Given the description of an element on the screen output the (x, y) to click on. 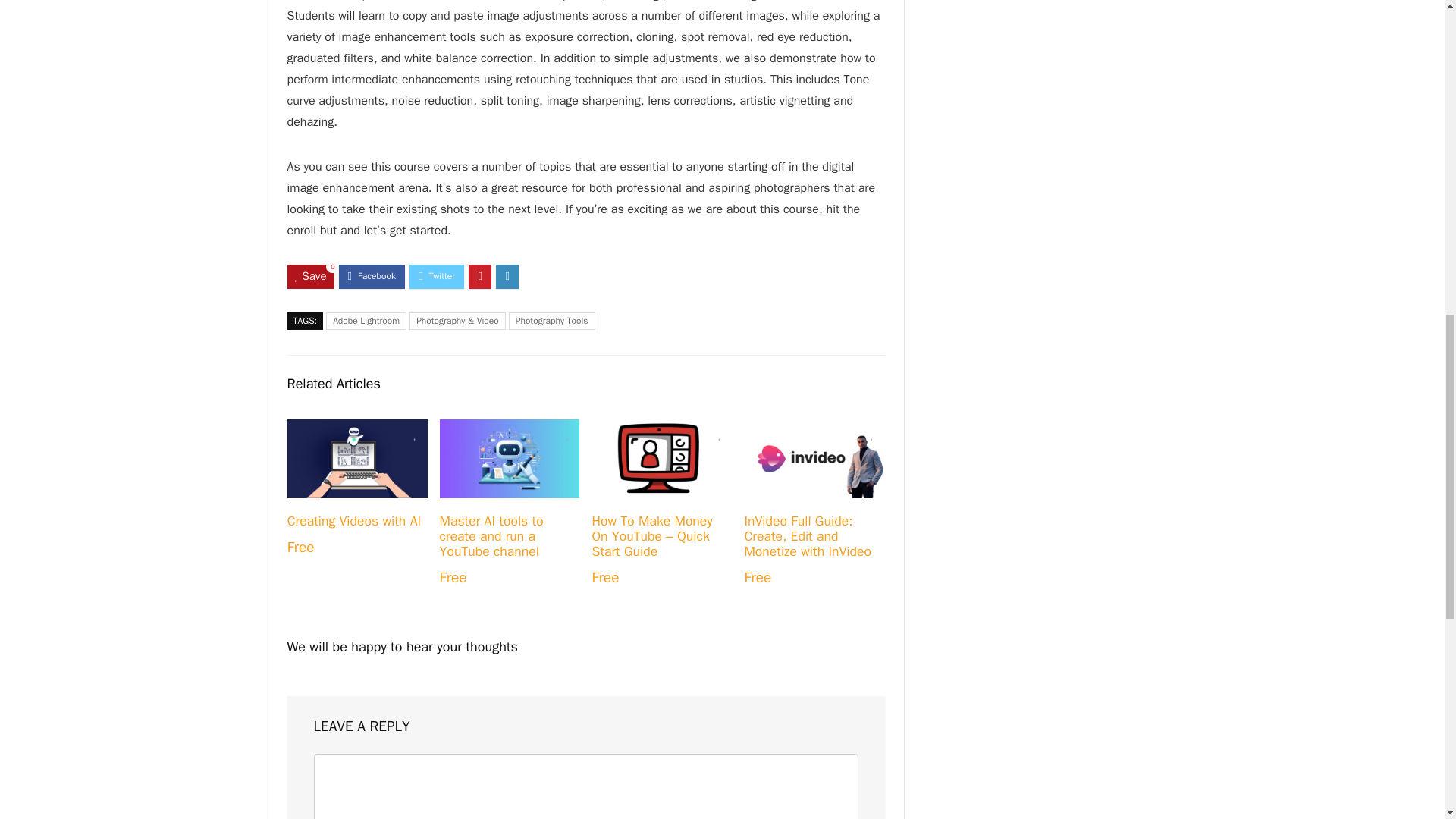
Creating Videos with AI (353, 520)
Adobe Lightroom (366, 321)
InVideo Full Guide: Create, Edit and Monetize with InVideo (807, 535)
Photography Tools (551, 321)
Master AI tools to create and run a YouTube channel (491, 535)
